Given the description of an element on the screen output the (x, y) to click on. 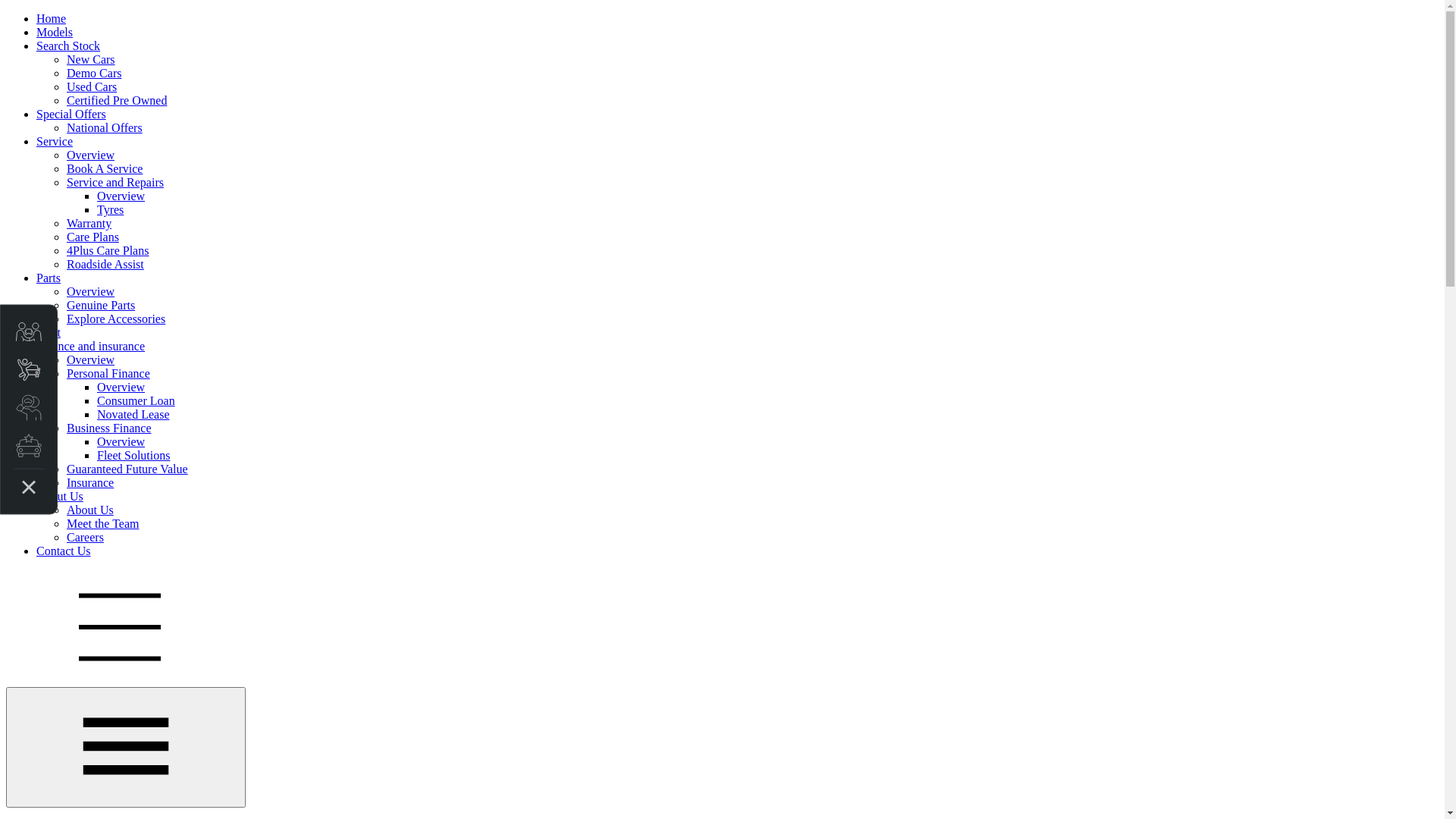
National Offers Element type: text (104, 127)
Overview Element type: text (120, 386)
Overview Element type: text (90, 291)
4Plus Care Plans Element type: text (107, 250)
Certified Pre Owned Element type: text (116, 100)
Search Stock Element type: text (68, 45)
Overview Element type: text (90, 154)
Explore Accessories Element type: text (115, 318)
Fleet Solutions Element type: text (133, 454)
Service Element type: text (54, 140)
Guaranteed Future Value Element type: text (127, 468)
Book A Service Element type: text (104, 168)
Warranty Element type: text (88, 222)
Genuine Parts Element type: text (100, 304)
Parts Element type: text (48, 277)
Business Finance Element type: text (108, 427)
Care Plans Element type: text (92, 236)
Roadside Assist Element type: text (105, 263)
Demo Cars Element type: text (93, 72)
Service and Repairs Element type: text (114, 181)
Consumer Loan Element type: text (136, 400)
Models Element type: text (54, 31)
Overview Element type: text (90, 359)
Fleet Element type: text (48, 332)
Finance and insurance Element type: text (90, 345)
New Cars Element type: text (90, 59)
About Us Element type: text (89, 509)
Insurance Element type: text (89, 482)
Overview Element type: text (120, 195)
Careers Element type: text (84, 536)
Novated Lease Element type: text (133, 413)
Overview Element type: text (120, 441)
Special Offers Element type: text (71, 113)
Contact Us Element type: text (63, 550)
Meet the Team Element type: text (102, 523)
Used Cars Element type: text (91, 86)
Personal Finance Element type: text (108, 373)
Tyres Element type: text (110, 209)
About Us Element type: text (59, 495)
Home Element type: text (50, 18)
